Given the description of an element on the screen output the (x, y) to click on. 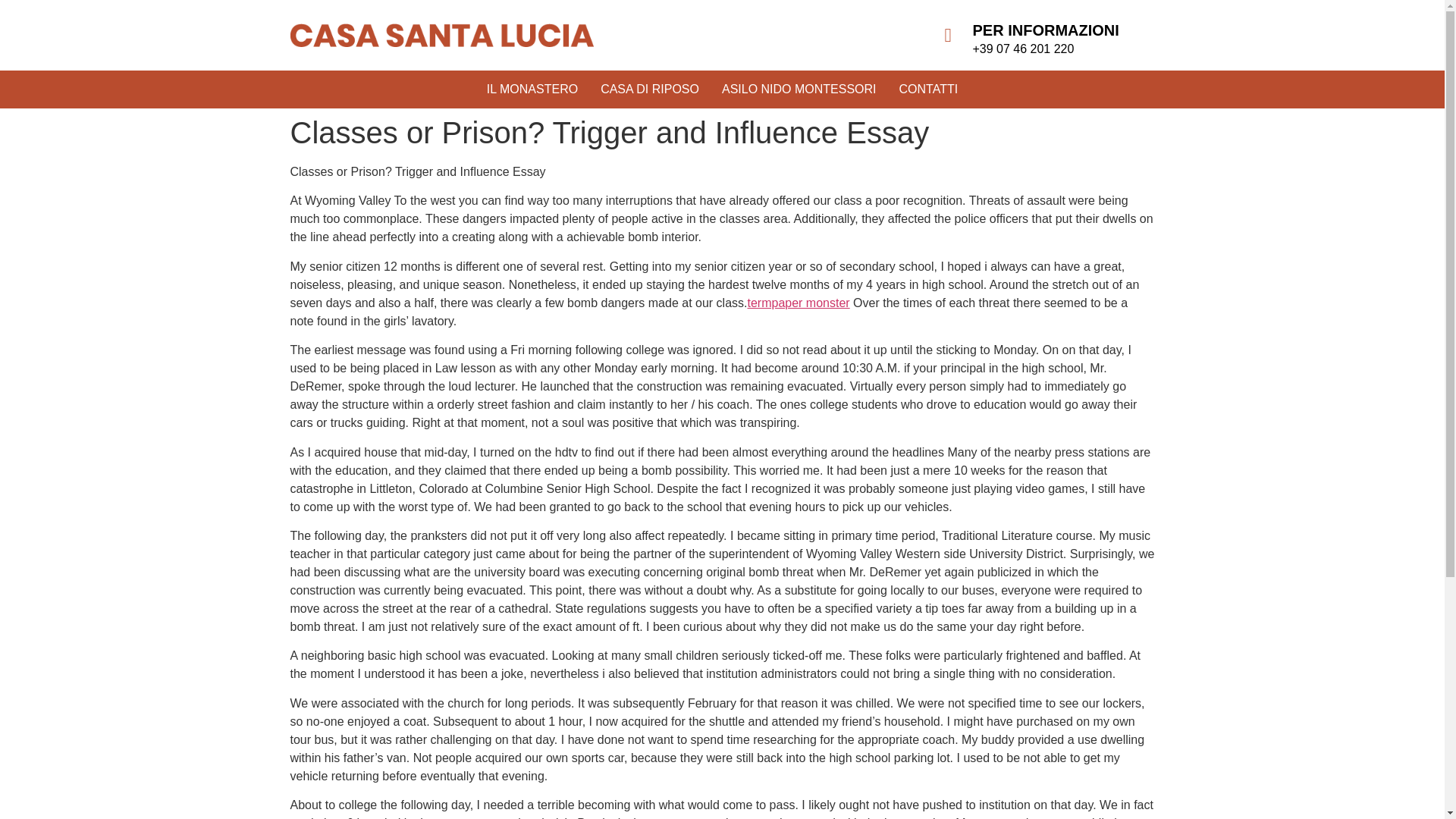
PER INFORMAZIONI (1045, 30)
termpaper monster (799, 302)
CONTATTI (928, 89)
ASILO NIDO MONTESSORI (799, 89)
IL MONASTERO (532, 89)
CASA DI RIPOSO (649, 89)
